Given the description of an element on the screen output the (x, y) to click on. 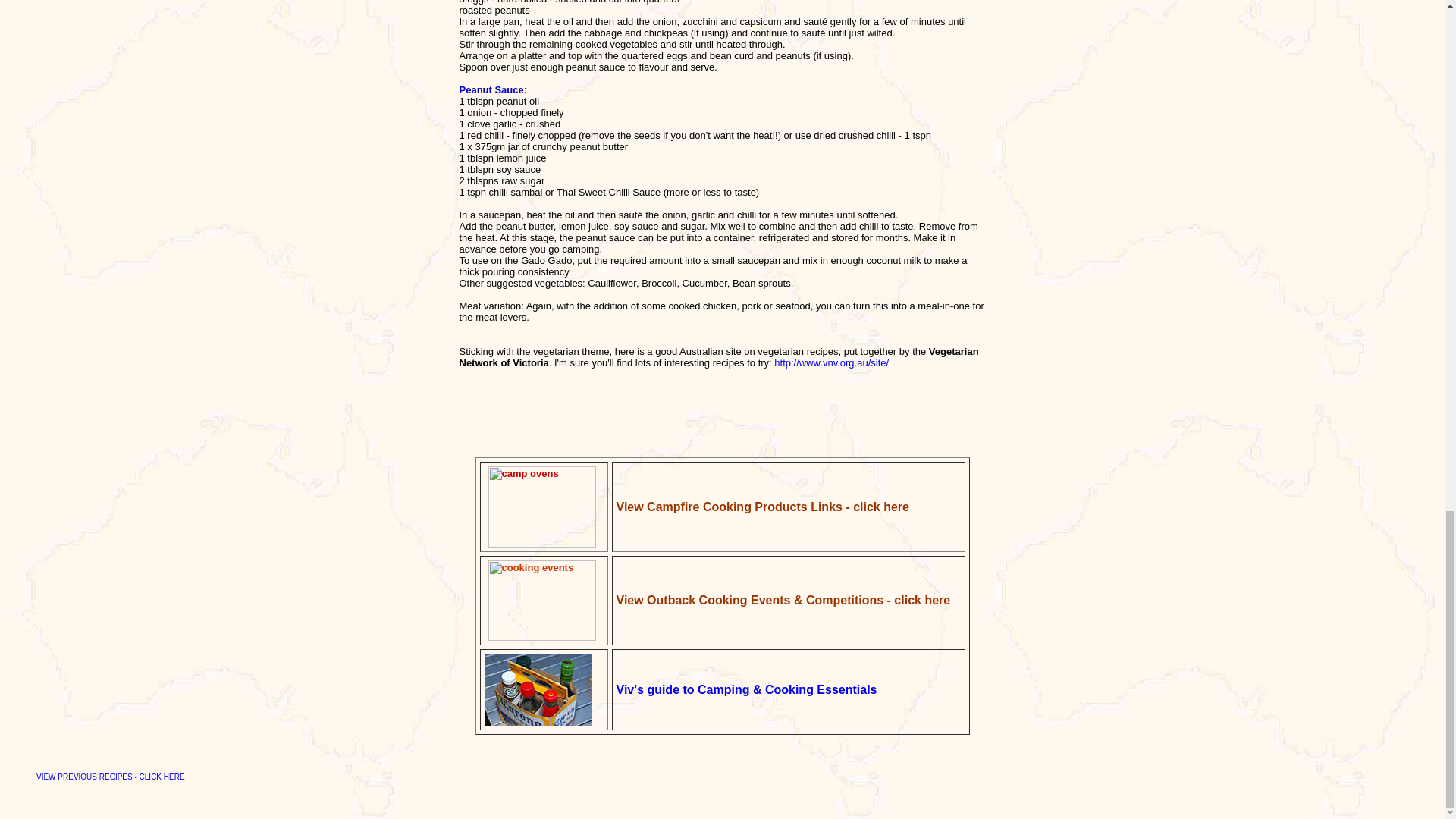
VIEW PREVIOUS RECIPES - CLICK HERE (110, 775)
View Campfire Cooking Products Links - click here (761, 505)
